Given the description of an element on the screen output the (x, y) to click on. 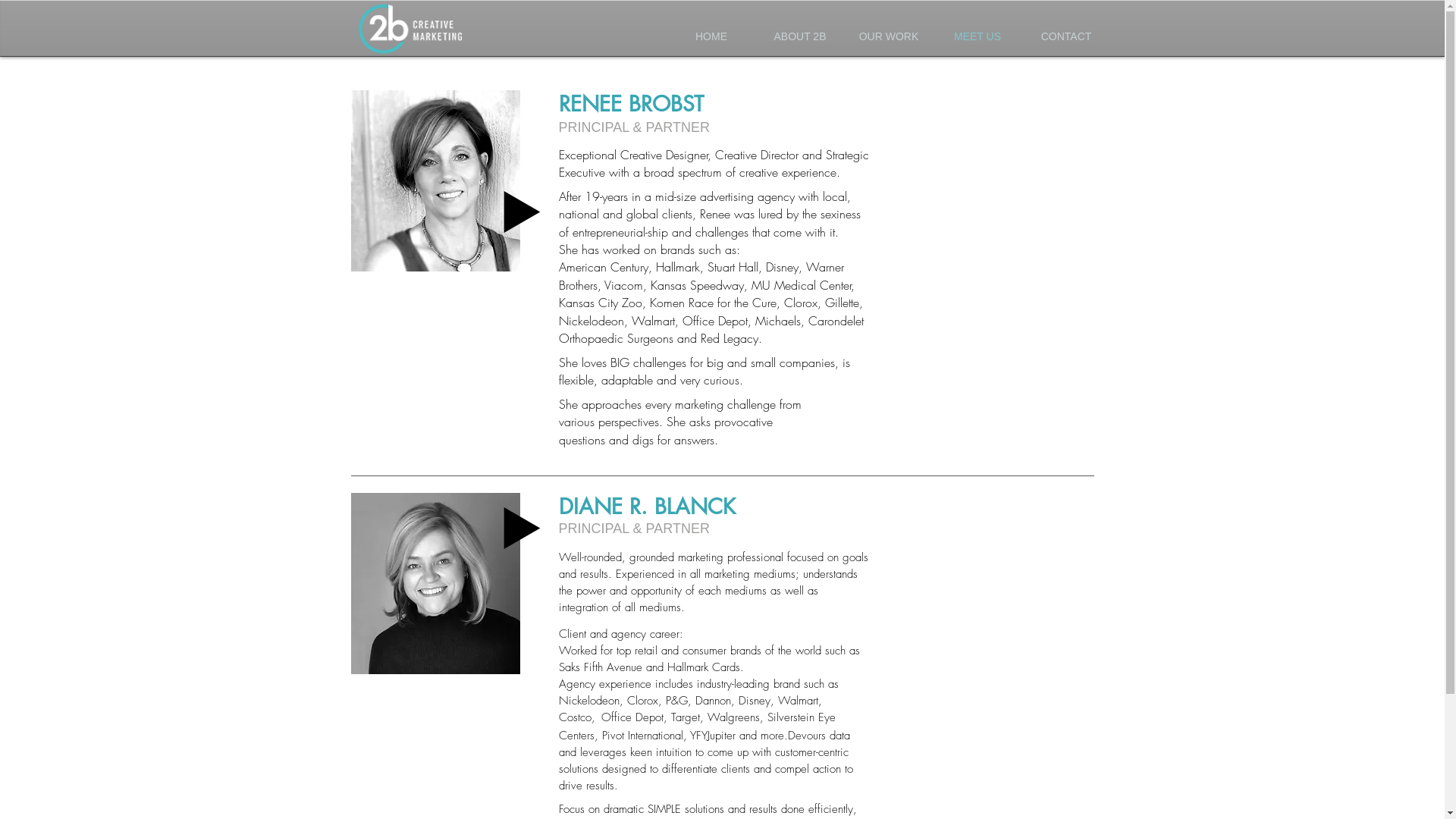
A boutique marketing agency with big ideas Element type: hover (411, 31)
OUR WORK Element type: text (888, 35)
HOME Element type: text (711, 35)
MEET US Element type: text (976, 35)
CONTACT Element type: text (1066, 35)
ABOUT 2B Element type: text (799, 35)
